Given the description of an element on the screen output the (x, y) to click on. 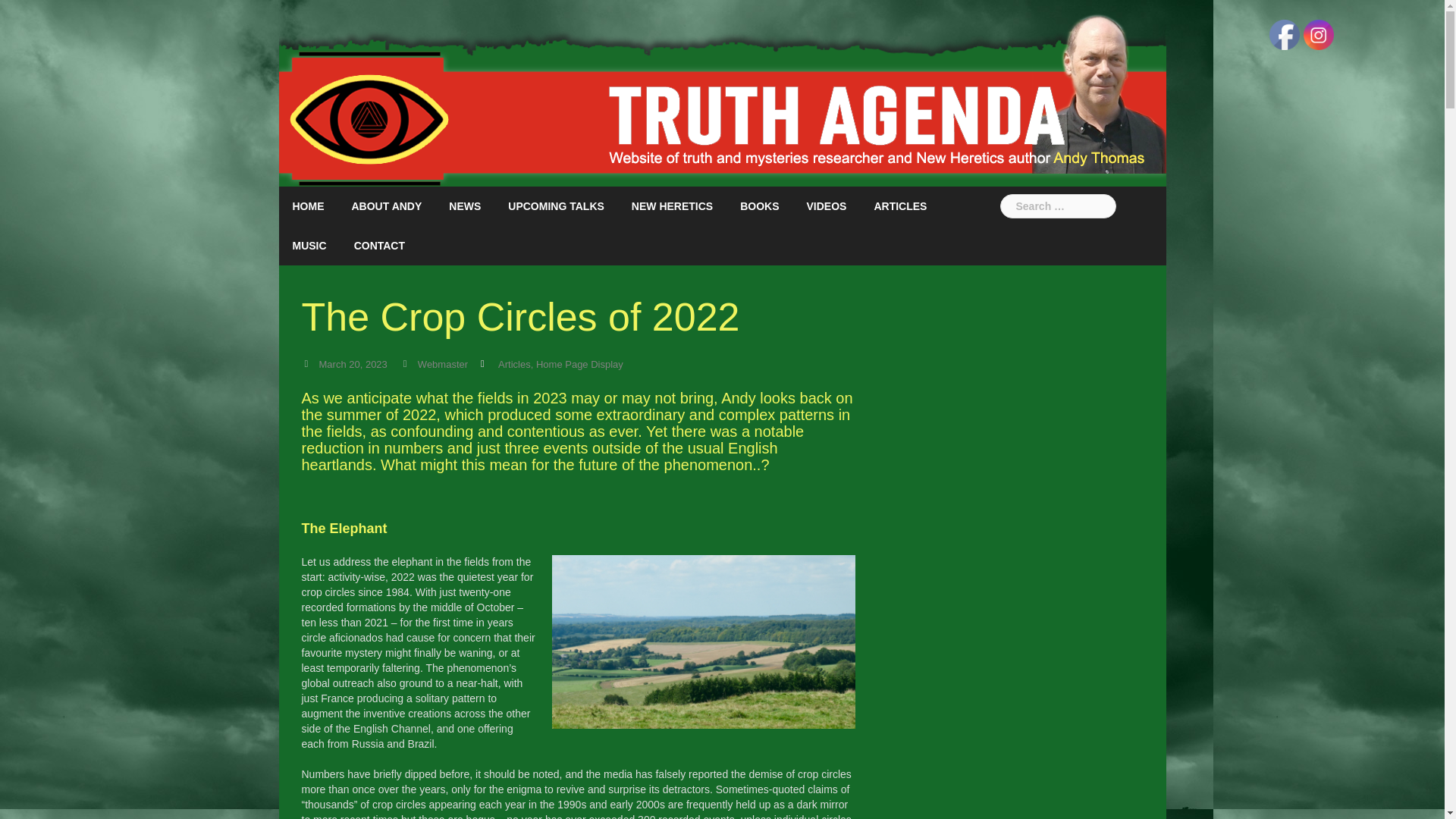
Instagram (1318, 34)
ABOUT ANDY (387, 206)
Webmaster (442, 364)
March 20, 2023 (352, 364)
Search (39, 18)
Facebook (1284, 34)
BOOKS (758, 206)
Articles (514, 364)
ARTICLES (899, 206)
Home Page Display (579, 364)
